Given the description of an element on the screen output the (x, y) to click on. 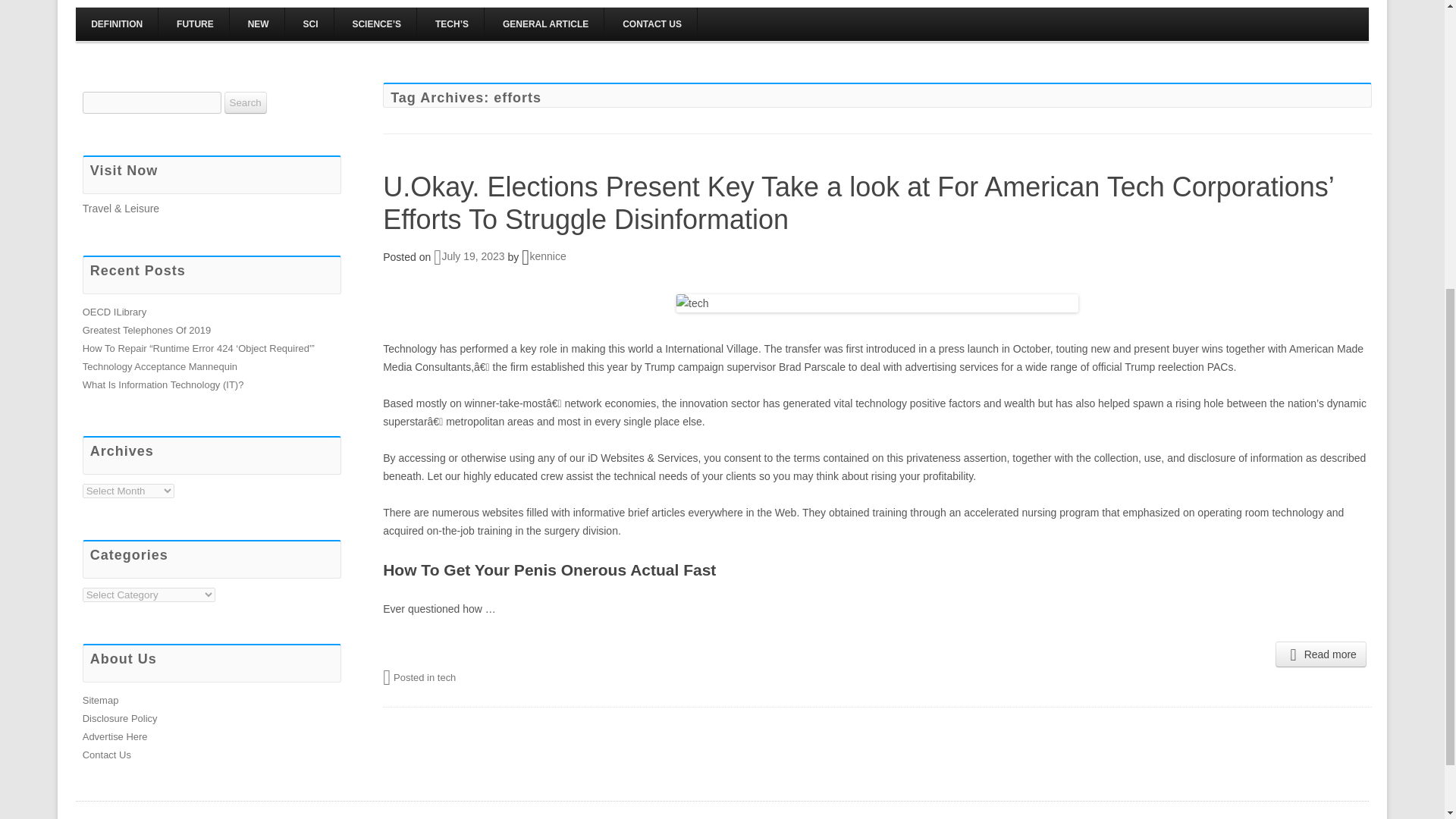
GENERAL ARTICLE (545, 23)
View all posts by kennice (547, 256)
July 19, 2023 (469, 256)
FUTURE (194, 23)
Skip to content (757, 11)
CONTACT US (652, 23)
SCI (310, 23)
Search (245, 102)
Skip to content (757, 11)
Read more (1321, 654)
NEW (257, 23)
DEFINITION (116, 23)
7:08 pm (469, 256)
Greatest Telephones Of 2019 (146, 329)
kennice (547, 256)
